Given the description of an element on the screen output the (x, y) to click on. 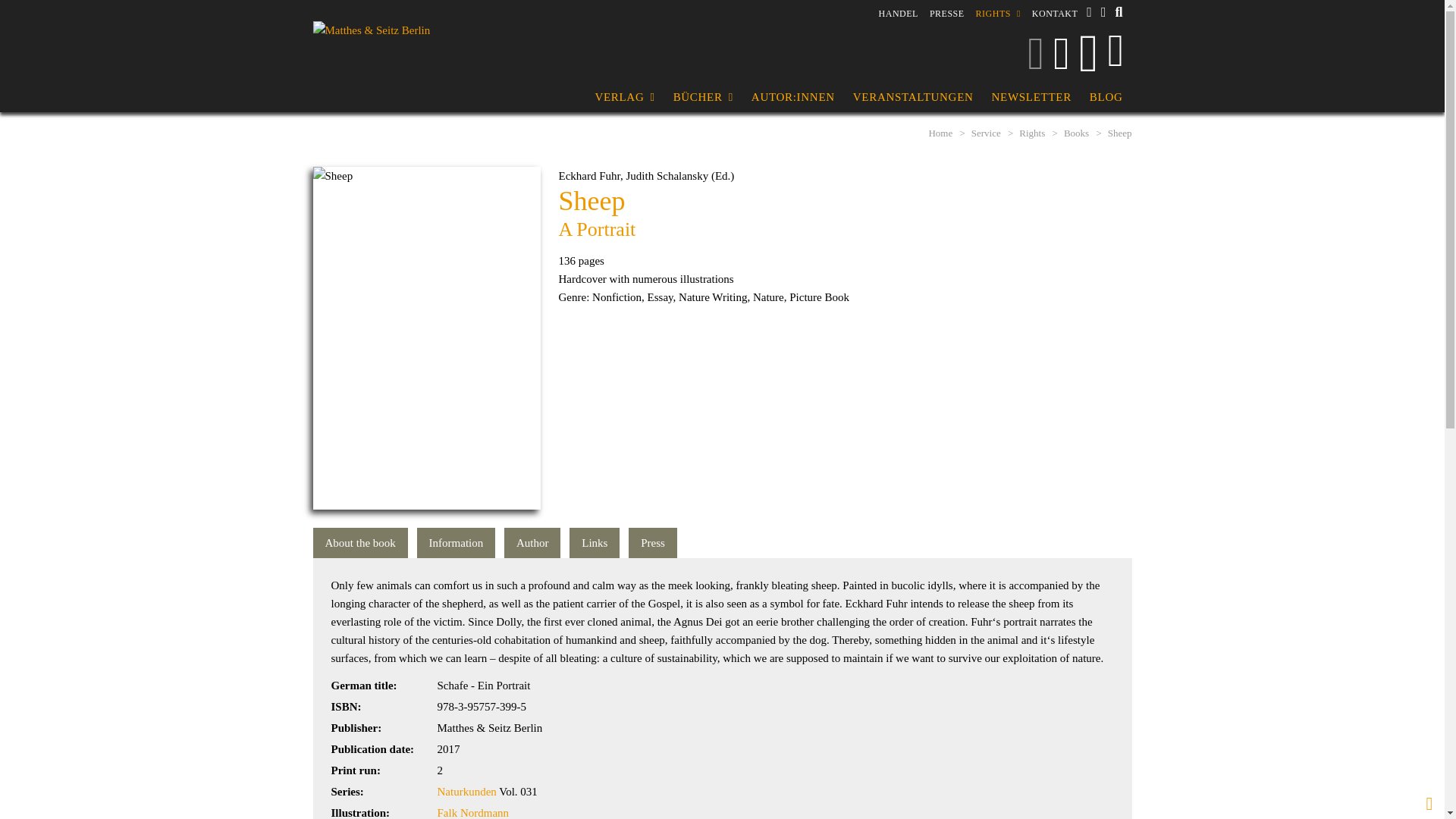
HANDEL (898, 13)
Handel (898, 13)
BLOG (1106, 96)
Author (531, 542)
About the book (360, 542)
Kontakt (1055, 13)
RIGHTS (997, 13)
Rights (997, 13)
KONTAKT (1055, 13)
Information (456, 542)
Press (652, 542)
PRESSE (946, 13)
NEWSLETTER (1031, 96)
AUTOR:INNEN (793, 96)
VERANSTALTUNGEN (913, 96)
